Given the description of an element on the screen output the (x, y) to click on. 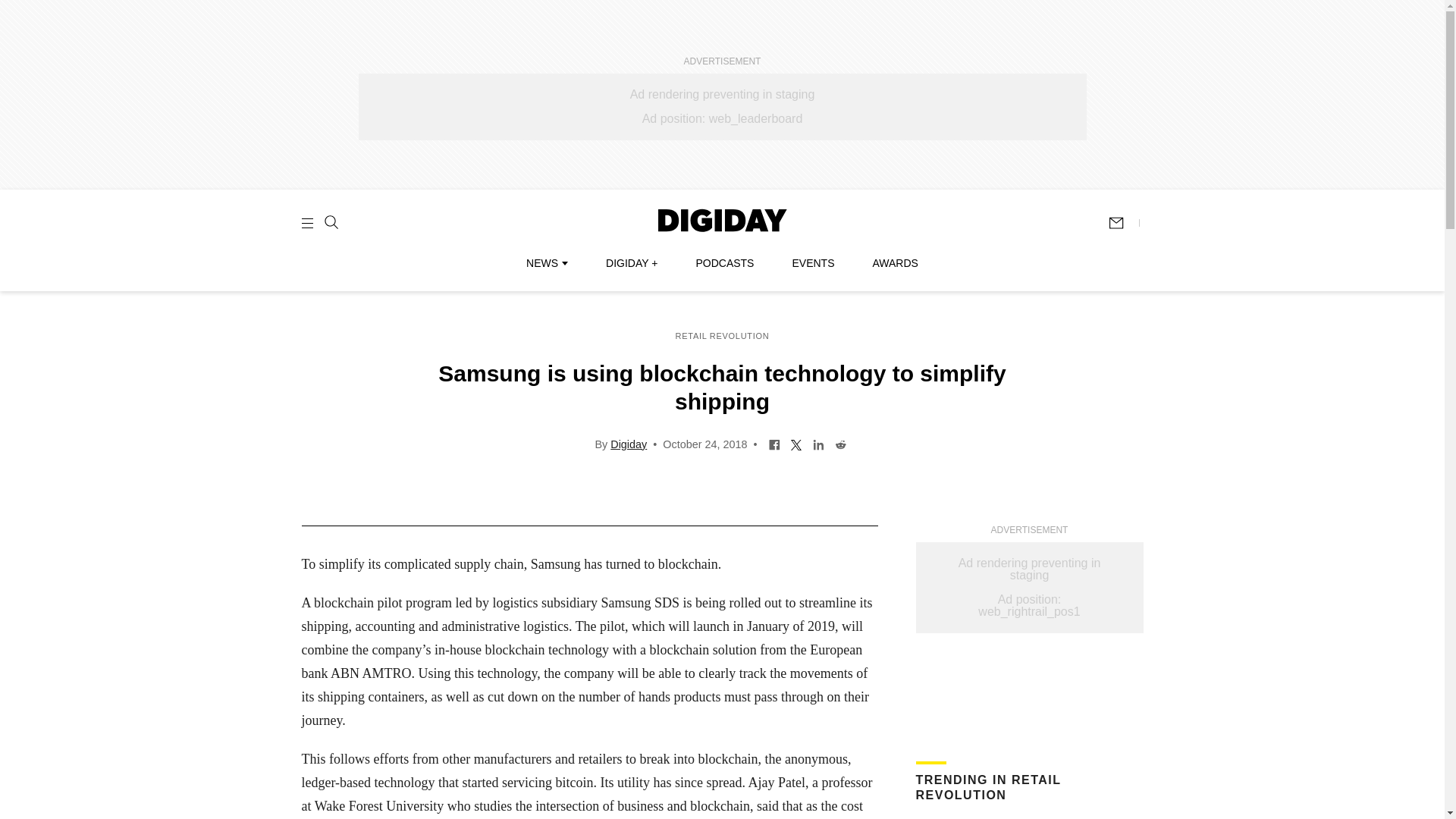
Subscribe (1123, 223)
NEWS (546, 262)
Share on Facebook (774, 443)
Share on LinkedIn (818, 443)
Share on Twitter (796, 443)
Share on Reddit (840, 443)
EVENTS (813, 262)
AWARDS (894, 262)
PODCASTS (725, 262)
